Given the description of an element on the screen output the (x, y) to click on. 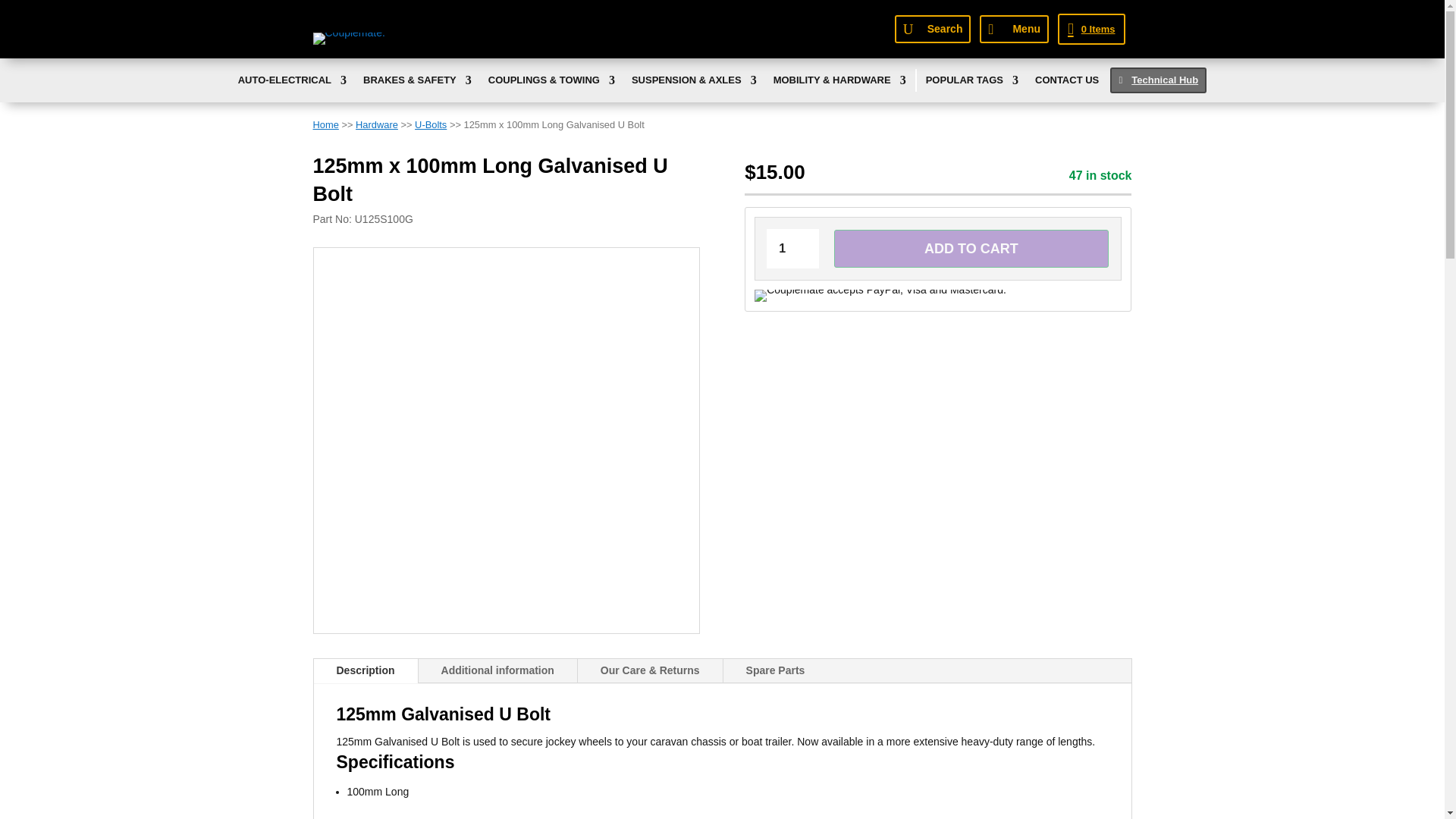
desktop-payment-gateway-03 (880, 295)
0 Items (1091, 28)
1 (792, 249)
cm-logo-Asset 29 (348, 38)
AUTO-ELECTRICAL (292, 83)
